Given the description of an element on the screen output the (x, y) to click on. 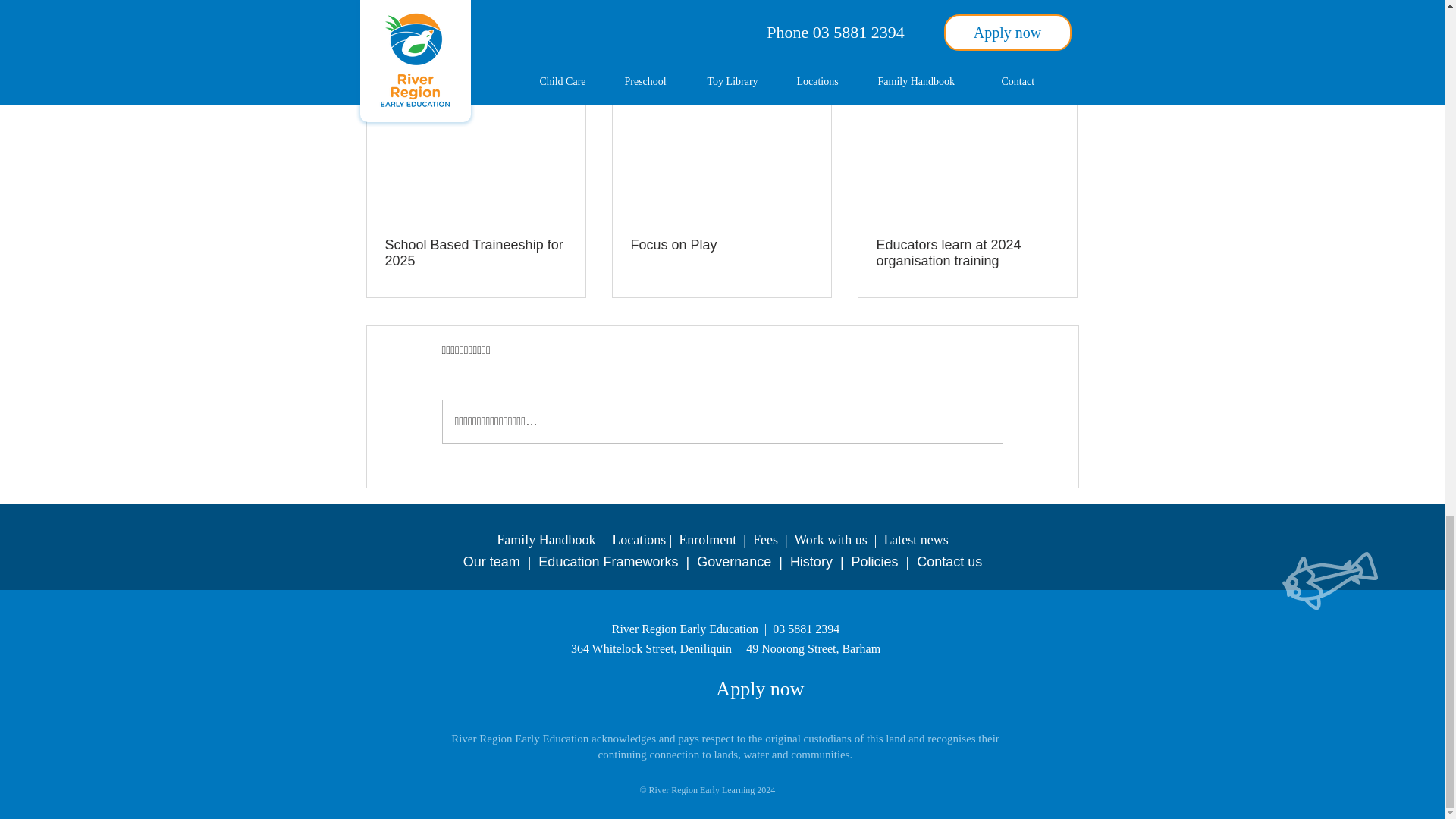
Family Handbook (545, 539)
See All (1061, 69)
Focus on Play (721, 245)
Educators learn at 2024 organisation training (967, 253)
Fees (764, 539)
Enrolment (707, 539)
Latest news (915, 539)
Governance (734, 561)
Education Frameworks (608, 561)
Our team (491, 561)
Policies (874, 561)
Locations (638, 539)
History (811, 561)
School Based Traineeship for 2025 (476, 253)
Work with us (830, 539)
